Given the description of an element on the screen output the (x, y) to click on. 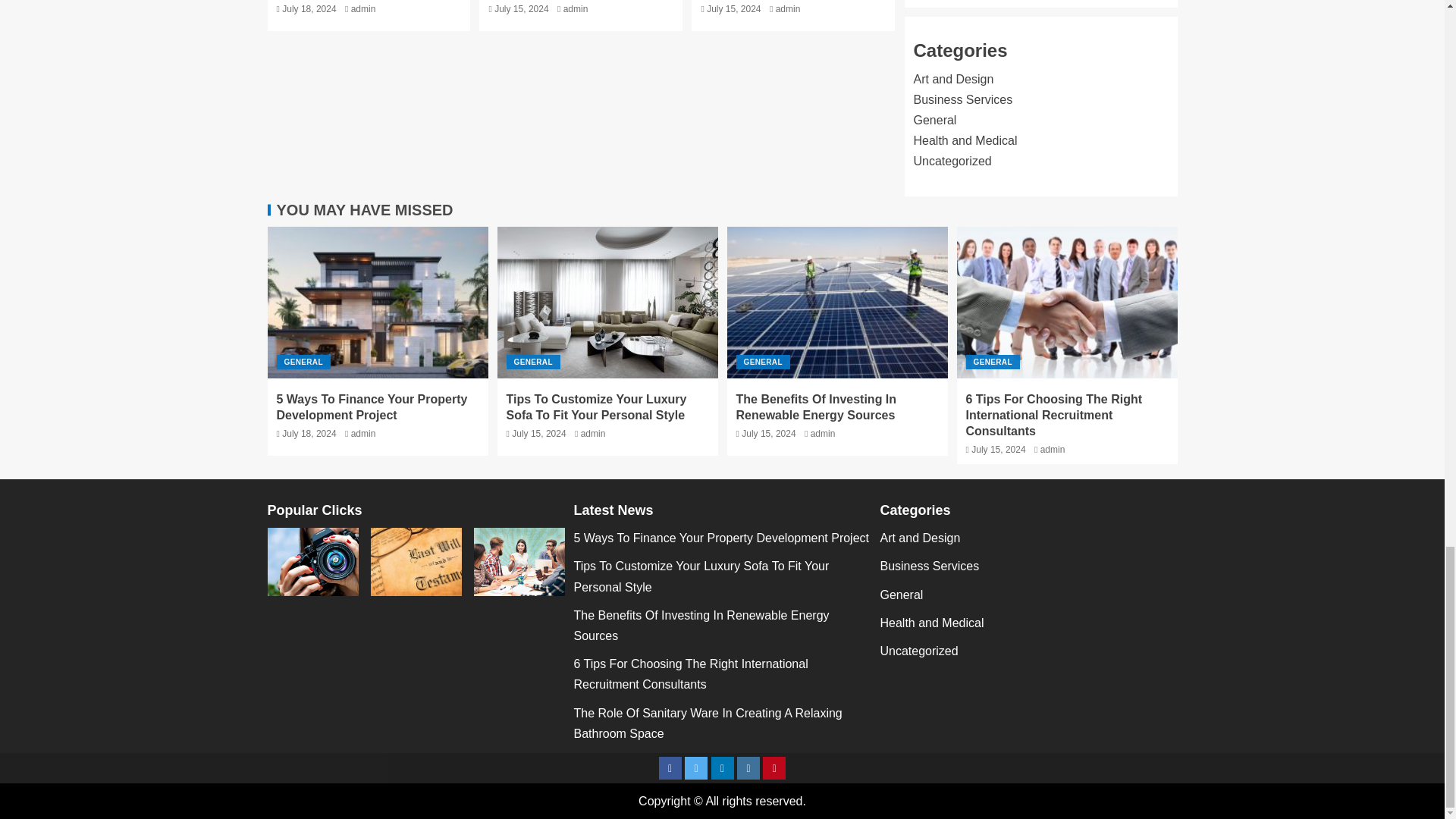
admin (362, 9)
admin (788, 9)
admin (575, 9)
